Given the description of an element on the screen output the (x, y) to click on. 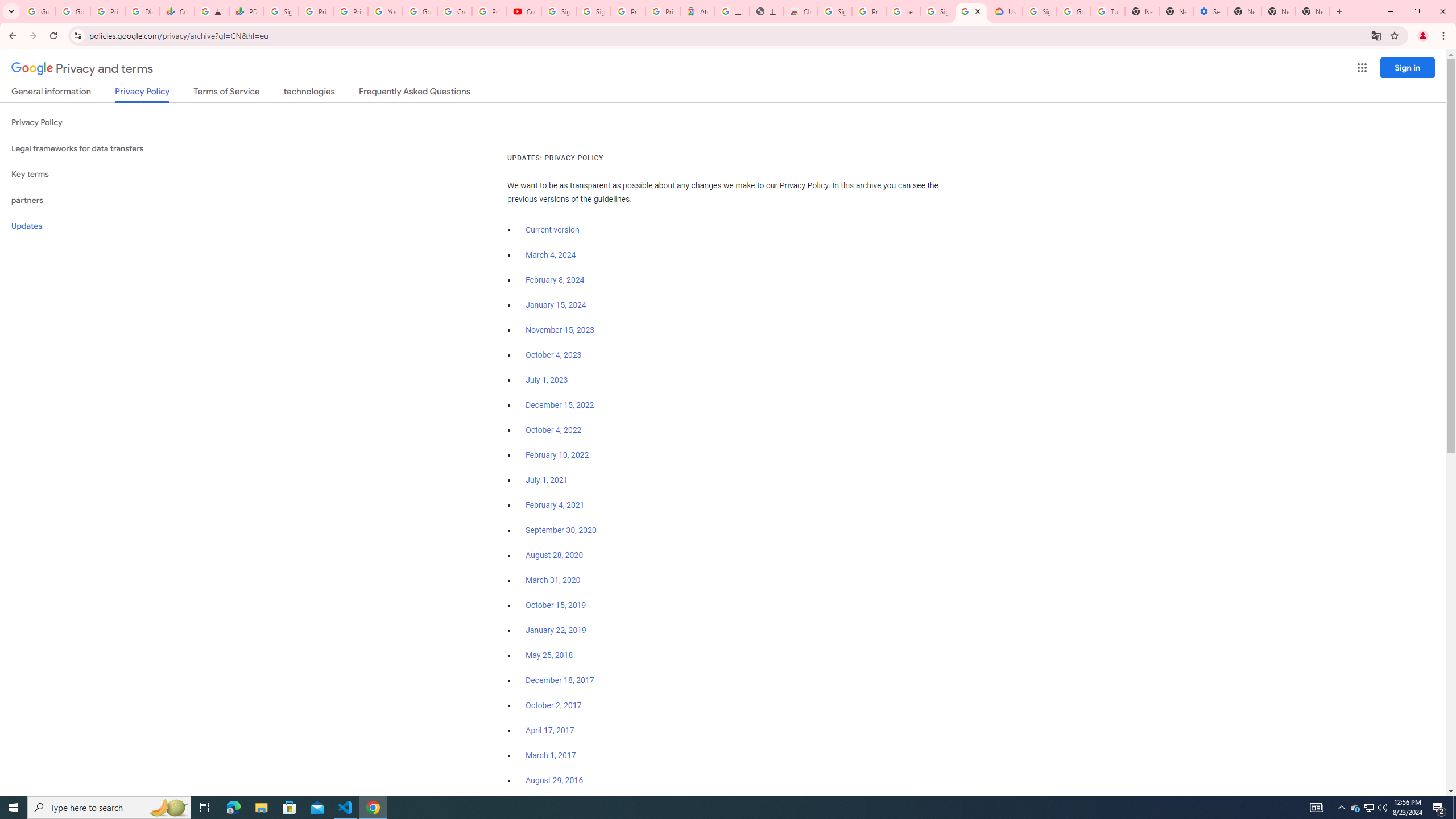
Sign in - Google Accounts (592, 11)
November 15, 2023 (560, 330)
March 31, 2020 (552, 579)
October 15, 2019 (555, 605)
Who are Google's partners? - Privacy and conditions - Google (970, 11)
Create your Google Account (454, 11)
New Tab (1243, 11)
August 29, 2016 (553, 780)
March 4, 2024 (550, 255)
Google Apps (1362, 67)
May 25, 2018 (549, 655)
Sign in - Google Accounts (937, 11)
